Given the description of an element on the screen output the (x, y) to click on. 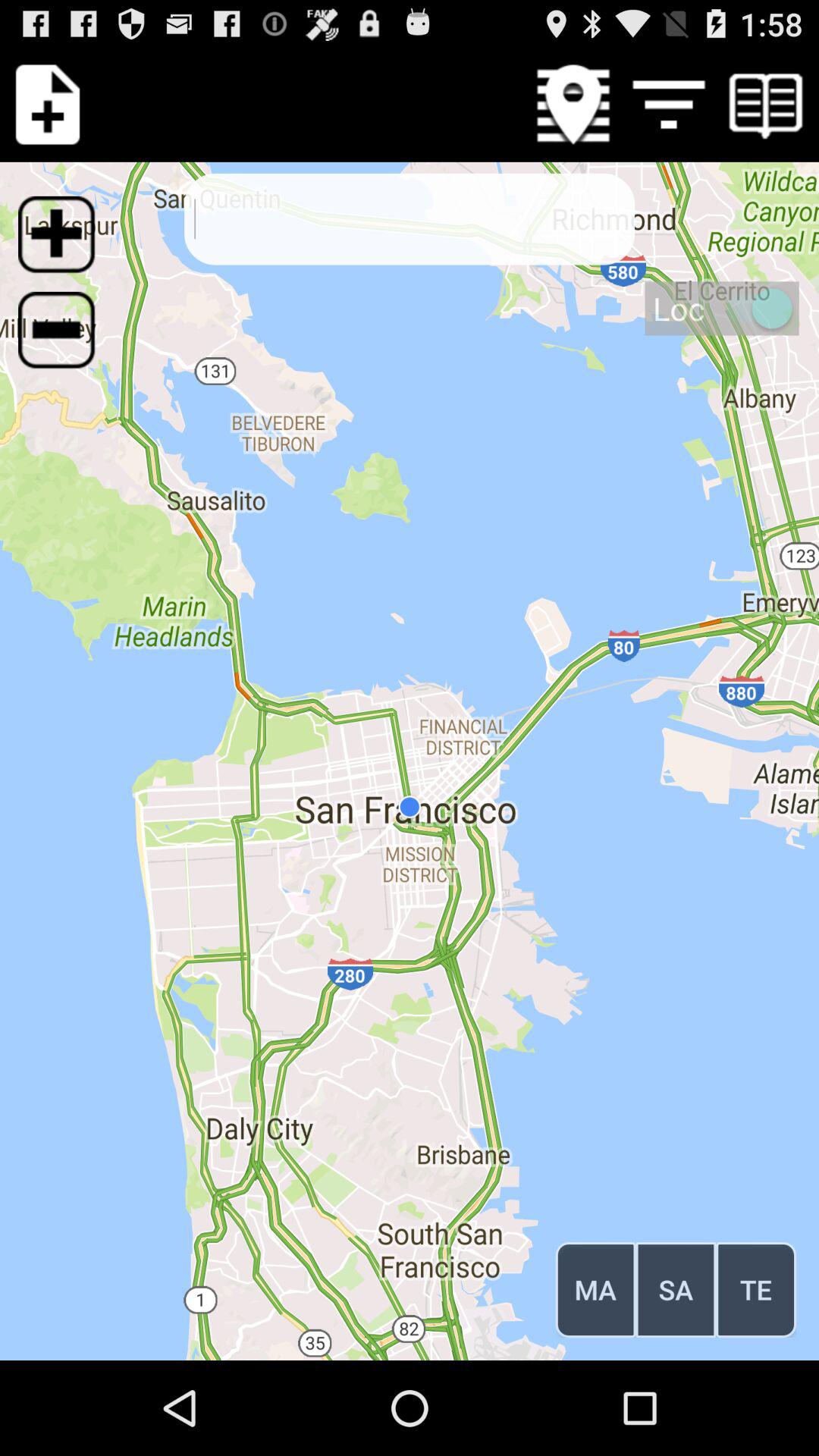
flip until loc (721, 308)
